Given the description of an element on the screen output the (x, y) to click on. 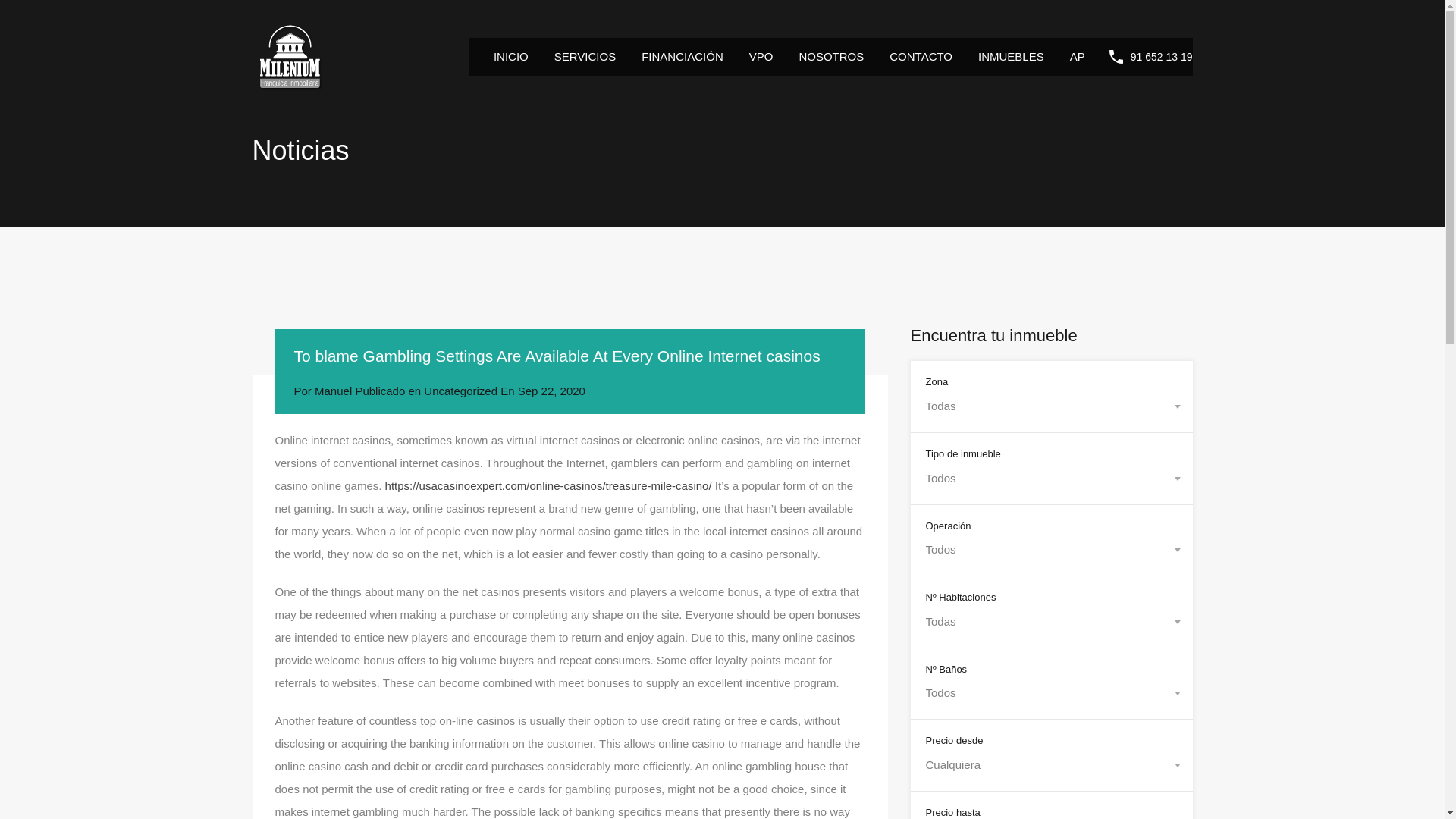
SERVICIOS (584, 56)
Todas (1050, 405)
Todas (1050, 621)
Todos (1050, 549)
Inmo Milenium (289, 87)
91 652 13 19 (1161, 56)
INICIO (510, 56)
VPO (761, 56)
Todos (1050, 477)
CONTACTO (920, 56)
AP (1077, 56)
INMUEBLES (1011, 56)
Cualquiera (1050, 764)
Todos (1050, 692)
NOSOTROS (831, 56)
